Given the description of an element on the screen output the (x, y) to click on. 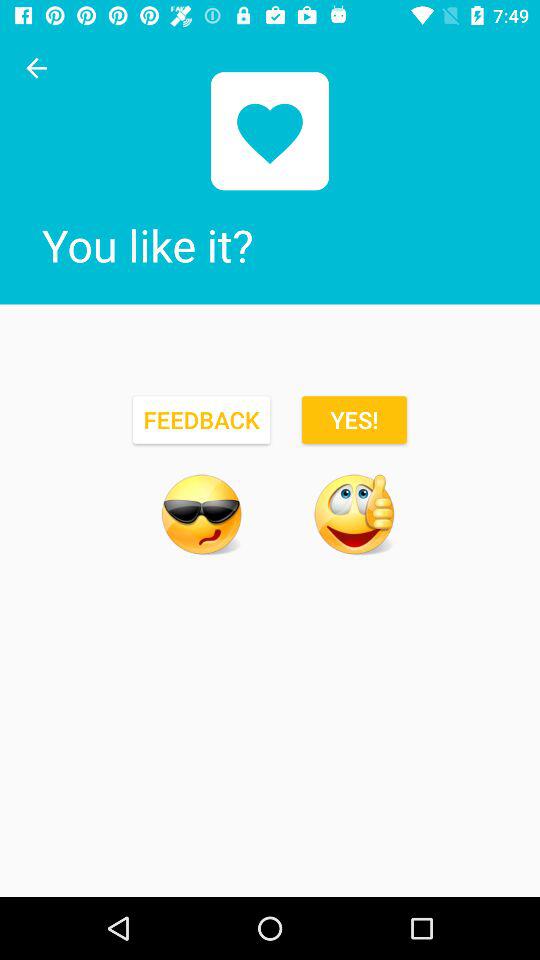
confirm feedback (354, 514)
